Given the description of an element on the screen output the (x, y) to click on. 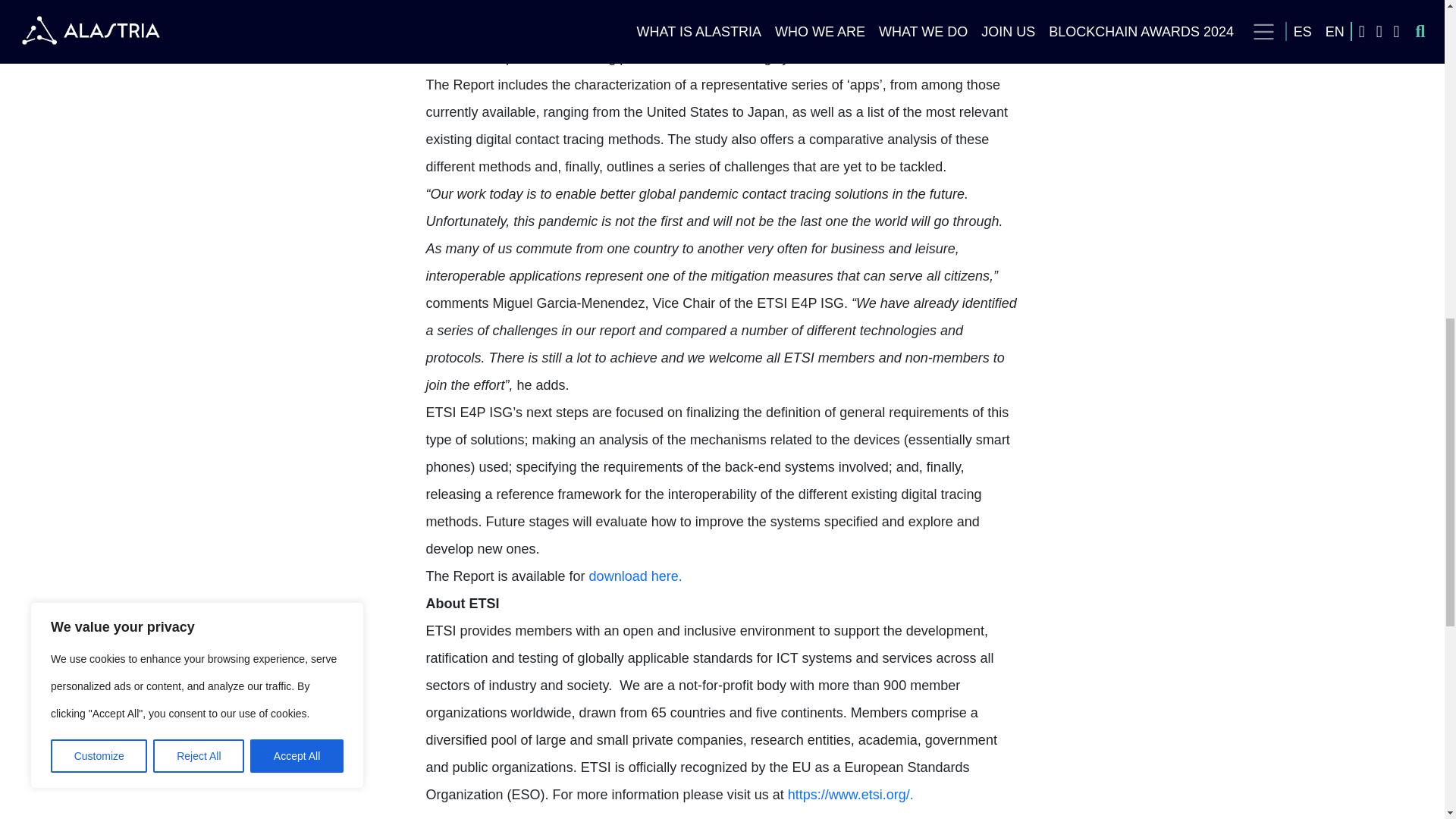
download here. (635, 575)
